Given the description of an element on the screen output the (x, y) to click on. 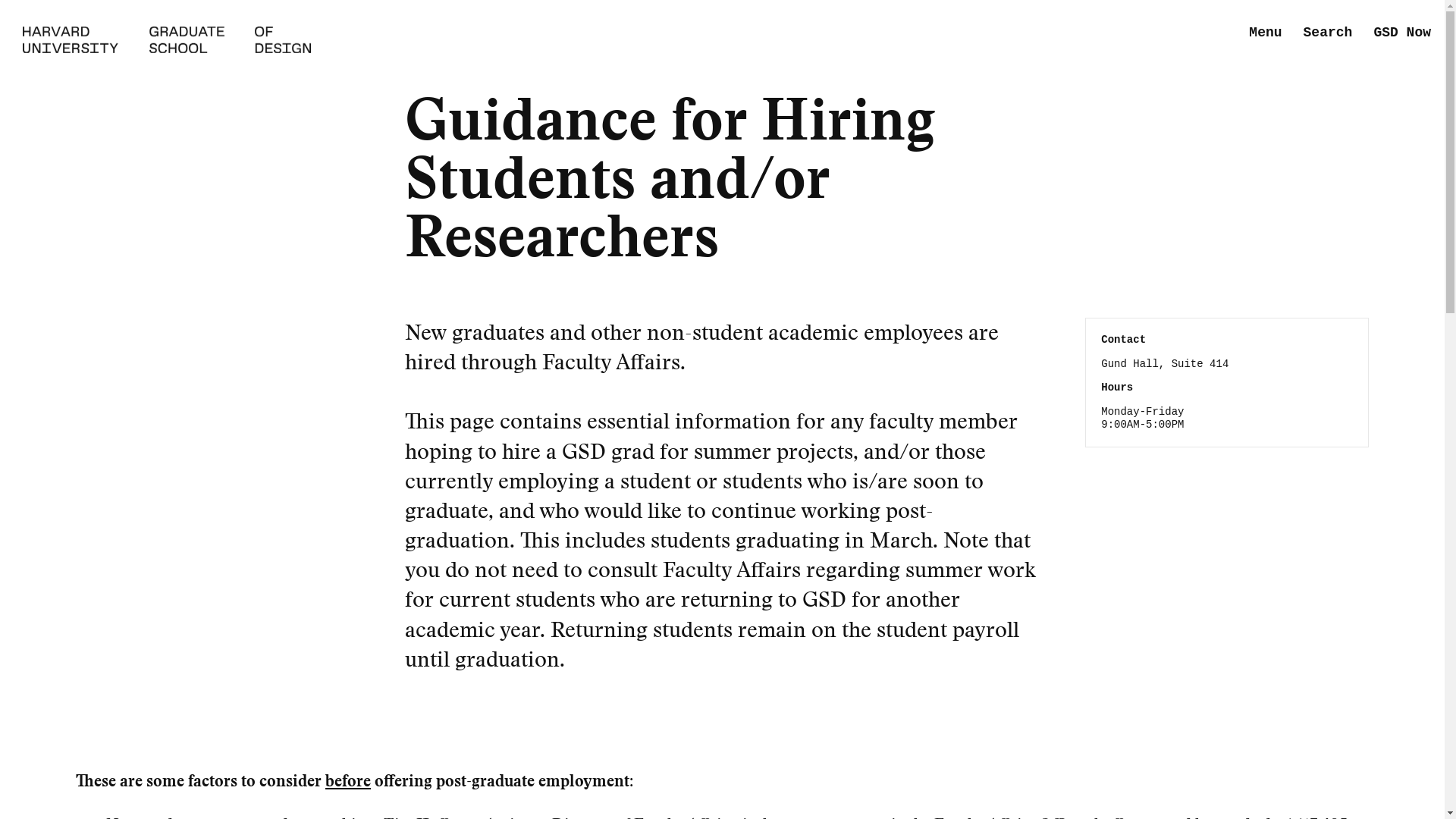
GSD Now (1402, 32)
Search (1327, 32)
Menu (1265, 32)
